Given the description of an element on the screen output the (x, y) to click on. 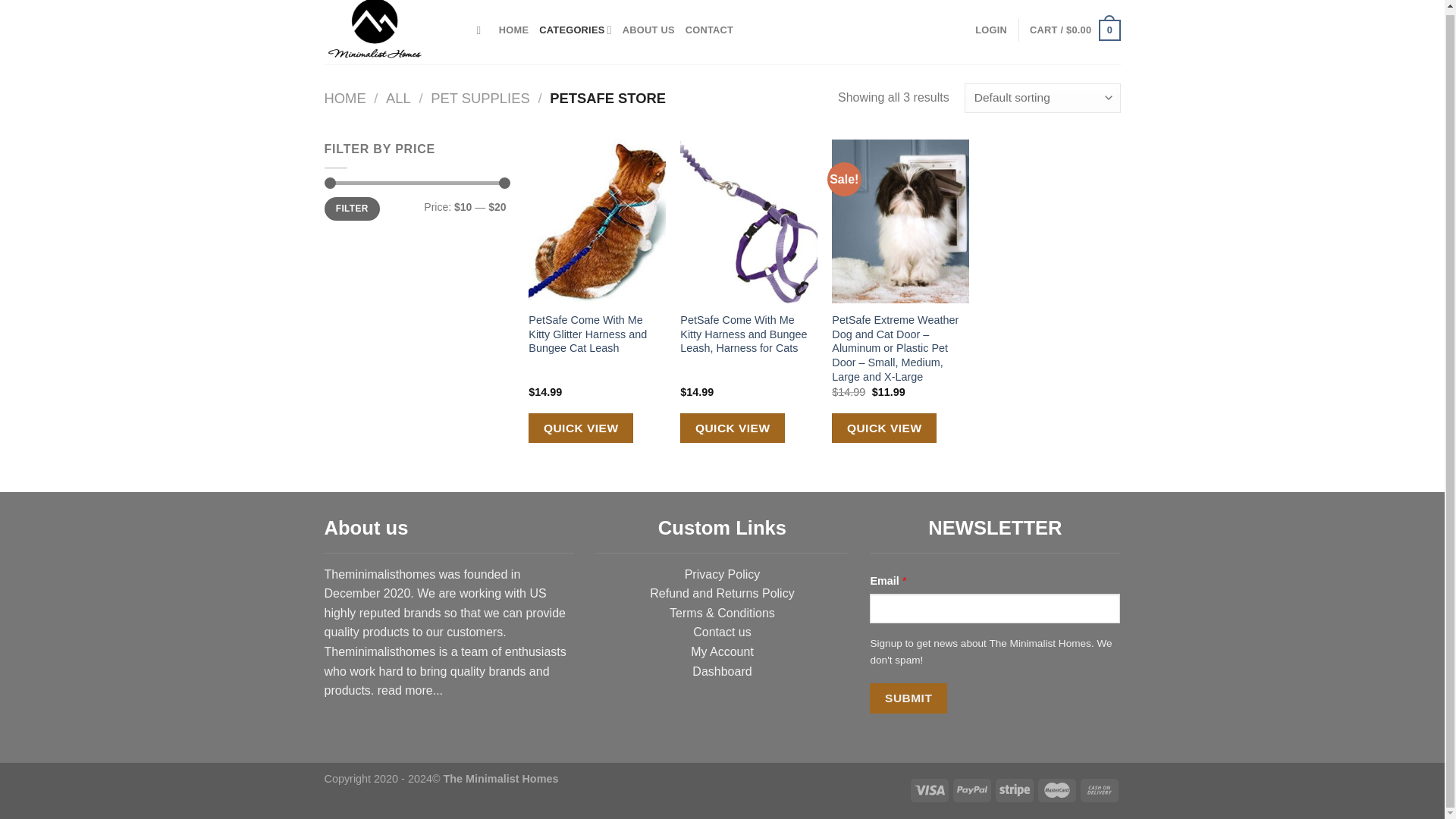
CATEGORIES (574, 30)
TMH (389, 32)
Cart (1074, 30)
HOME (513, 30)
